Given the description of an element on the screen output the (x, y) to click on. 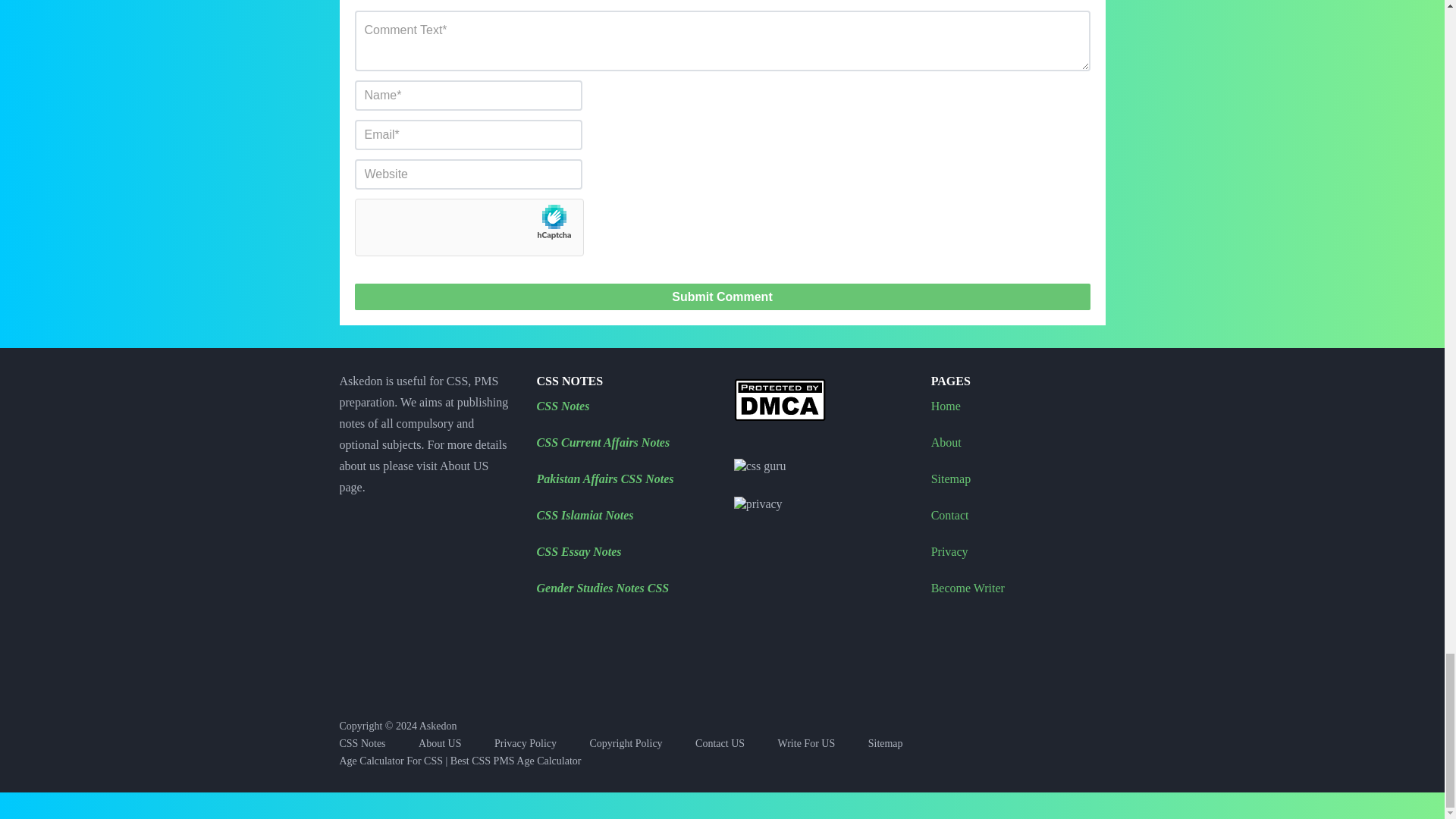
Submit Comment (722, 295)
